Given the description of an element on the screen output the (x, y) to click on. 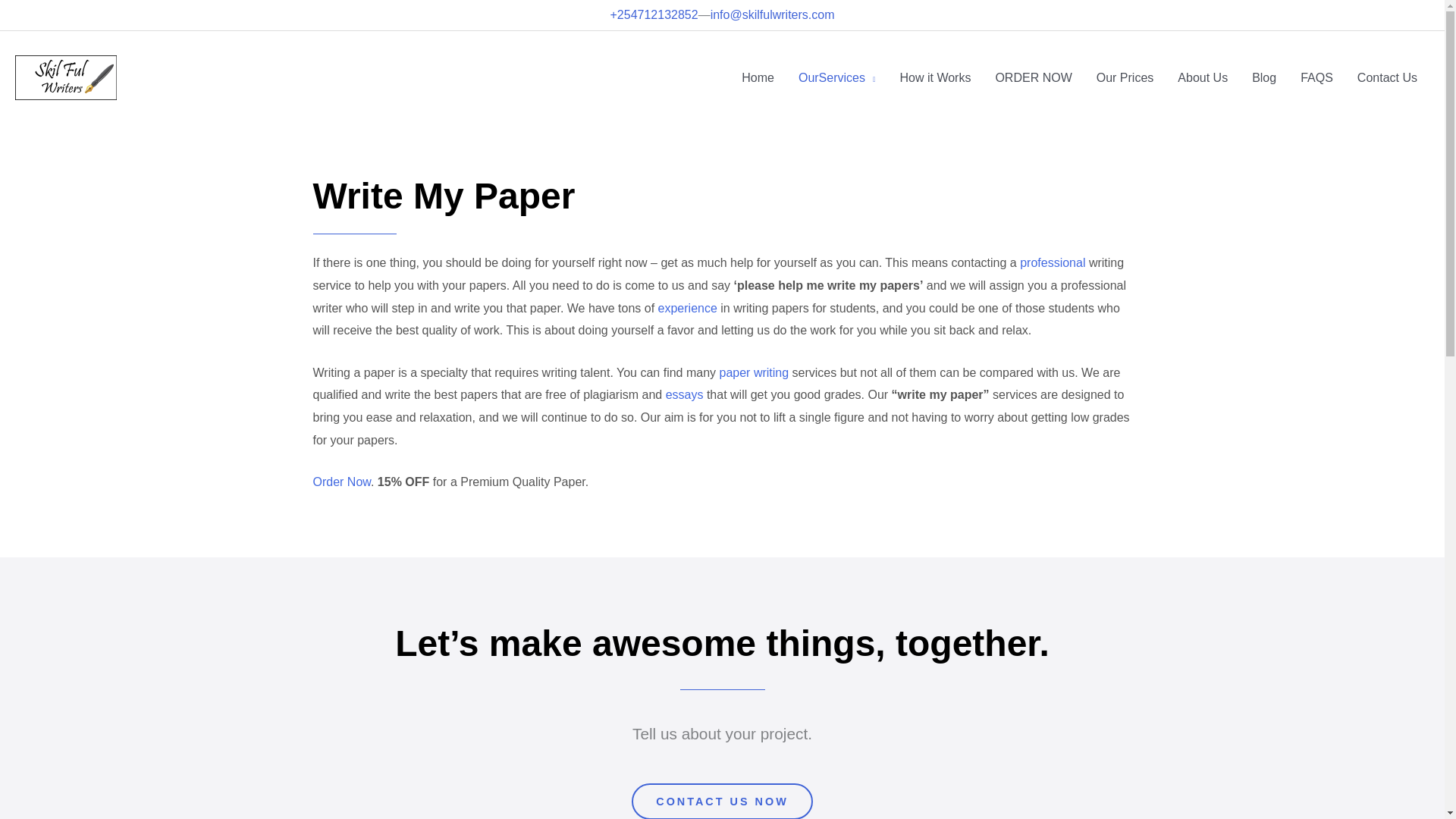
FAQS (1316, 77)
How it Works (934, 77)
professional (1052, 262)
Our Prices (1125, 77)
experience (687, 308)
ORDER NOW (1032, 77)
Home (757, 77)
OurServices (837, 77)
Blog (1264, 77)
About Us (1203, 77)
